Given the description of an element on the screen output the (x, y) to click on. 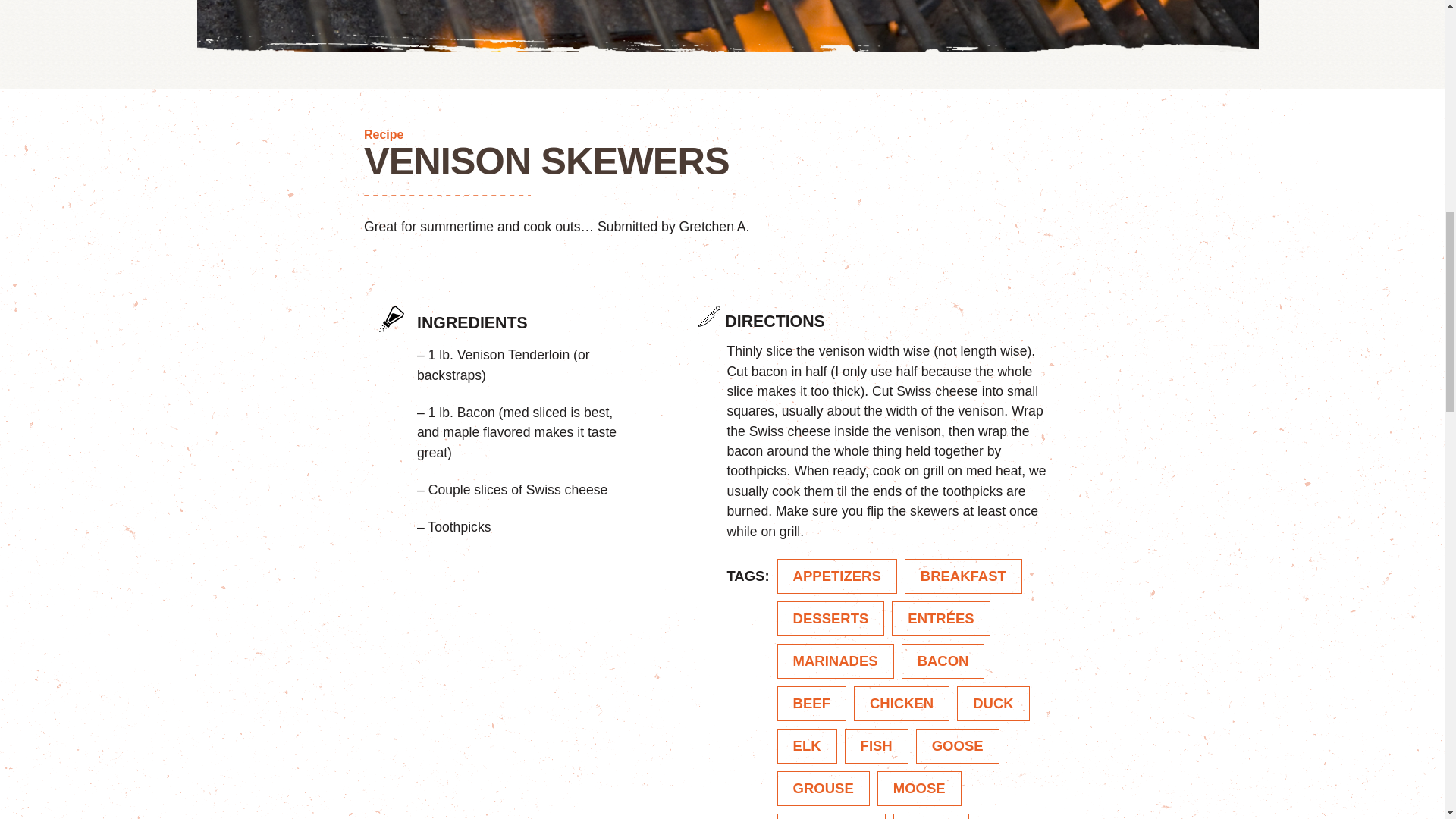
CHICKEN (901, 703)
FISH (876, 745)
GOOSE (956, 745)
MOOSE (918, 788)
BACON (943, 660)
DUCK (992, 703)
BREAKFAST (963, 575)
GROUSE (823, 788)
BEEF (811, 703)
QUAIL (931, 816)
MARINADES (835, 660)
ELK (807, 745)
PHEASANT (831, 816)
DESSERTS (831, 618)
APPETIZERS (836, 575)
